Given the description of an element on the screen output the (x, y) to click on. 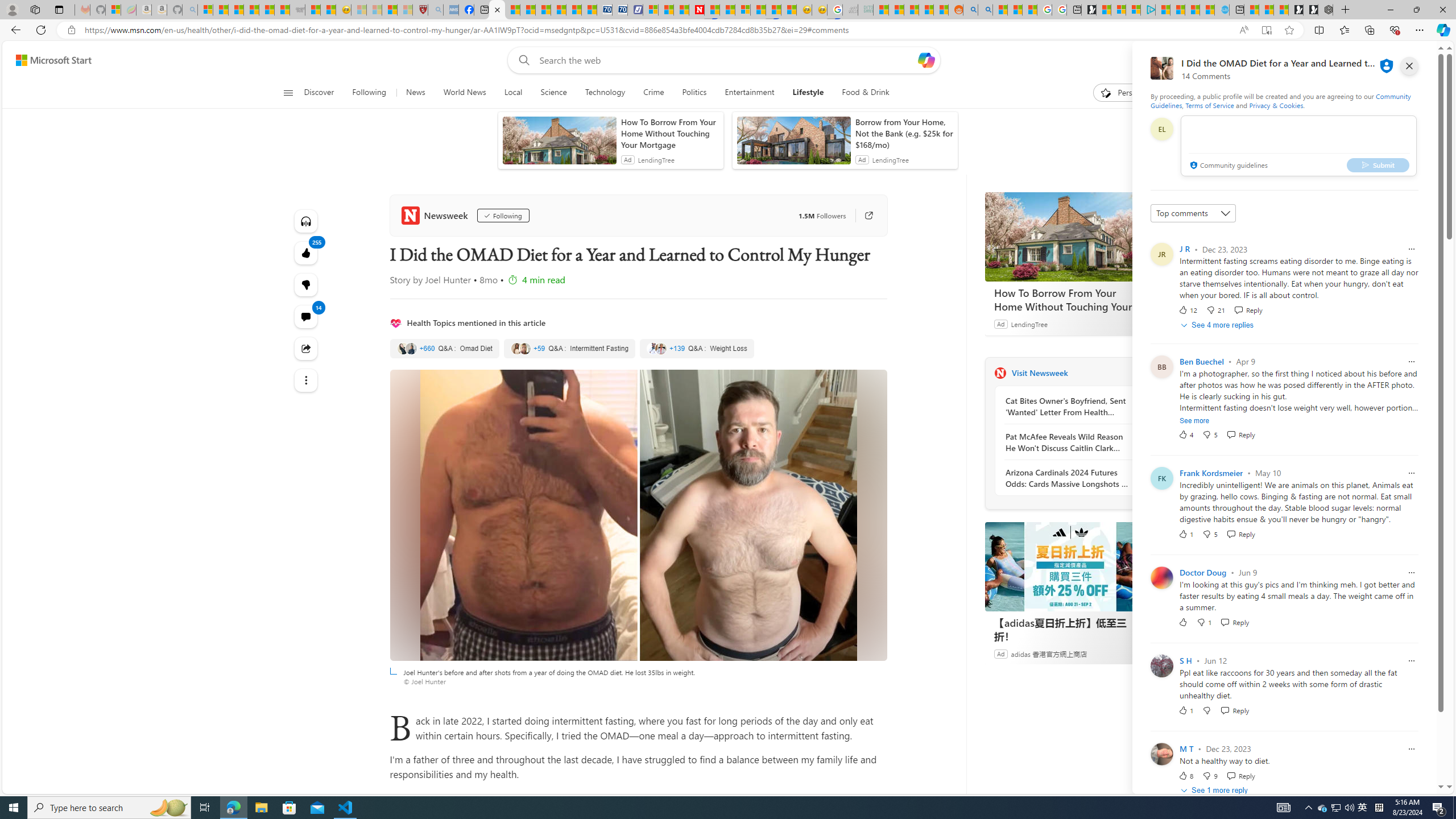
Reply Reply Comment (1240, 775)
Community guidelines (1228, 165)
Utah sues federal government - Search (984, 9)
Like (1182, 621)
Intermittent Fasting (569, 348)
